Given the description of an element on the screen output the (x, y) to click on. 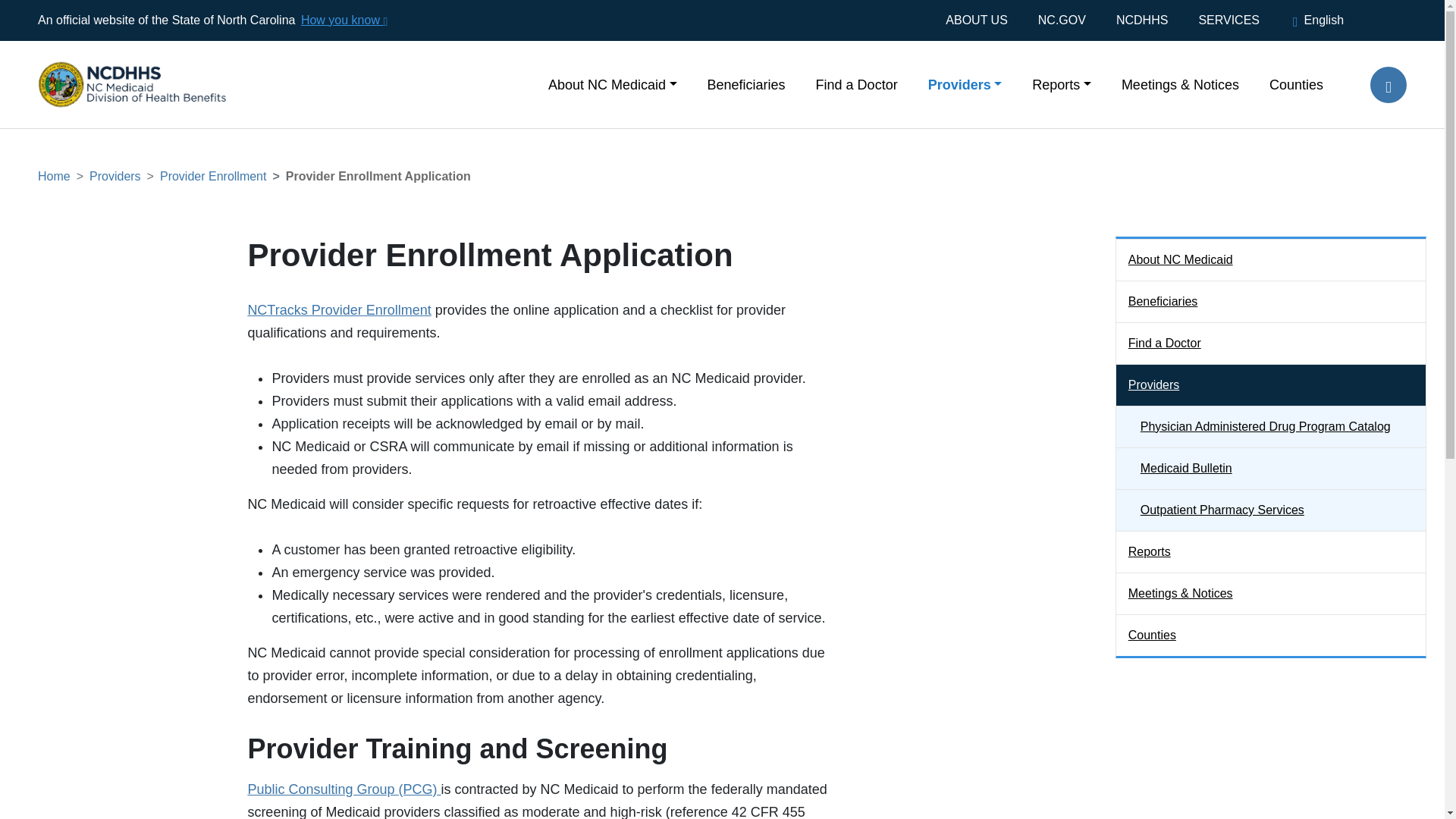
Counties (1288, 83)
Provider Enrollment (213, 175)
Find a Doctor (856, 83)
NCTracks Provider Enrollment (338, 309)
Providers (114, 175)
Beneficiaries (746, 83)
NCDHHS (1141, 20)
Providers (964, 83)
Home (53, 175)
Home (116, 61)
How you know (342, 20)
SERVICES (1228, 20)
ABOUT US (983, 20)
NC.GOV (1061, 20)
About NC Medicaid (612, 83)
